Given the description of an element on the screen output the (x, y) to click on. 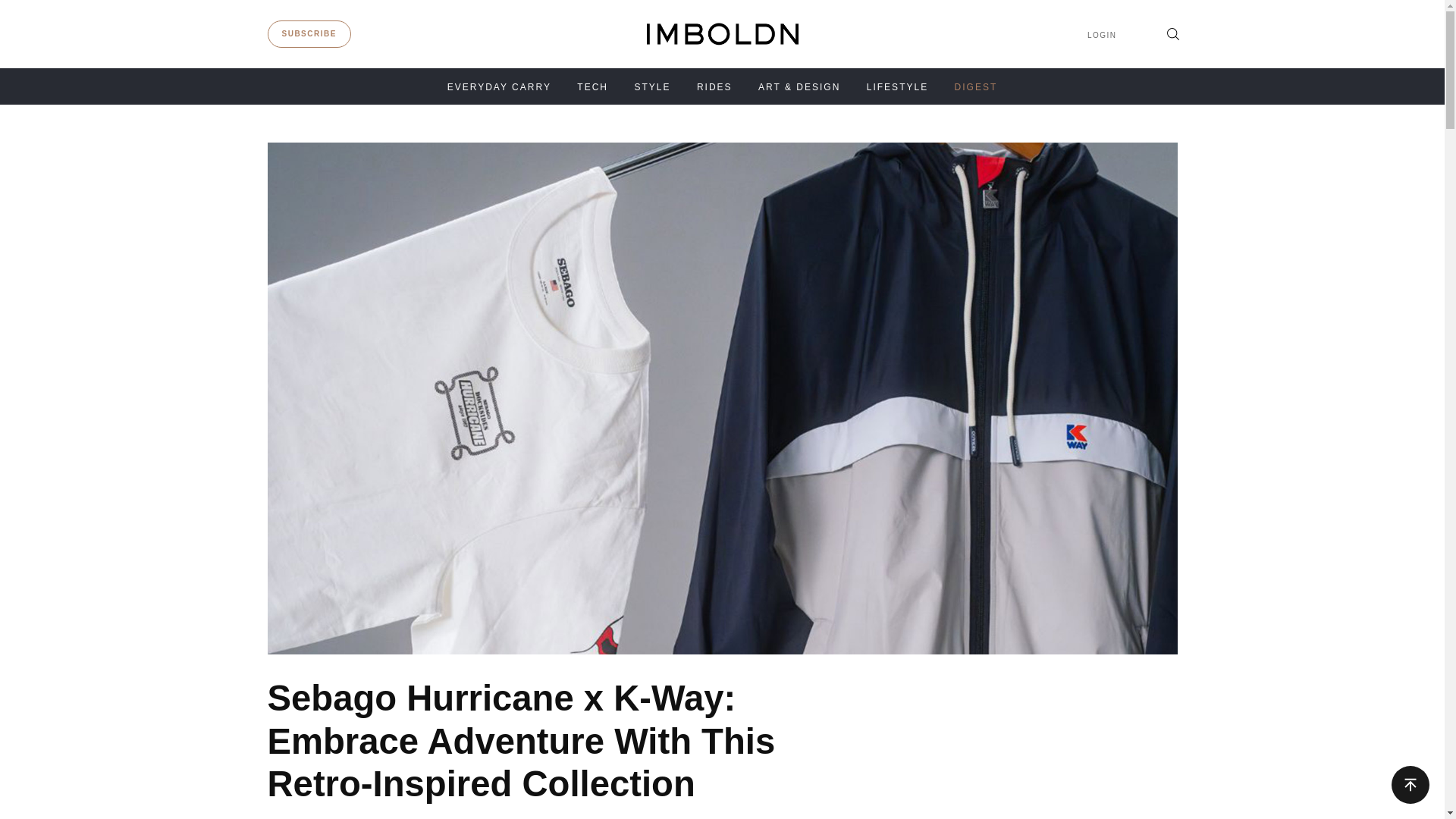
Login (1101, 35)
LOGIN (1101, 35)
EVERYDAY CARRY (498, 86)
TECH (592, 86)
DIGEST (976, 86)
LIFESTYLE (897, 86)
SUBSCRIBE (309, 33)
RIDES (714, 86)
STYLE (651, 86)
